Given the description of an element on the screen output the (x, y) to click on. 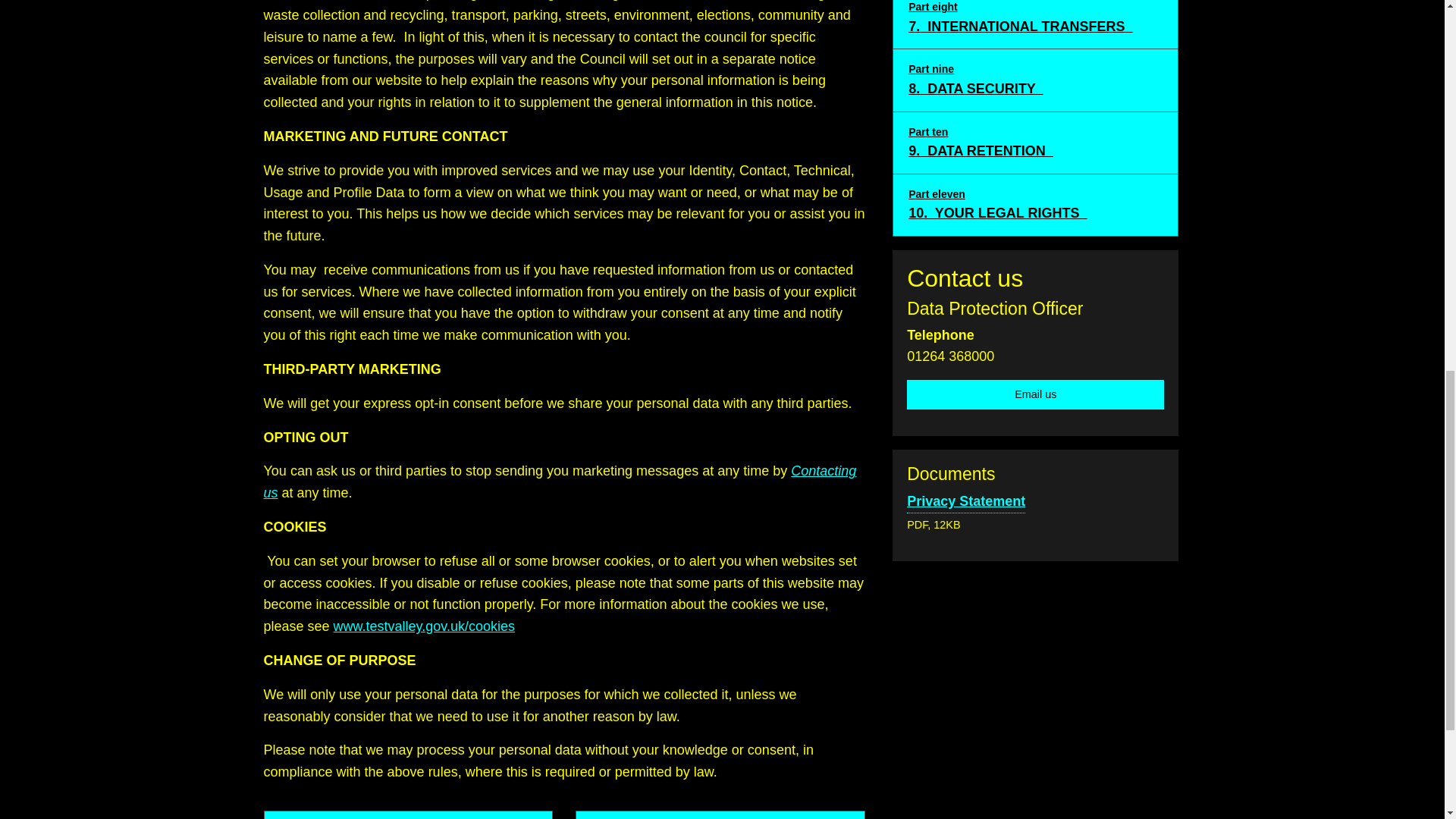
Next part (720, 814)
Opens a .pdf (407, 814)
Send an email (966, 501)
Previous part (1035, 394)
Contacting us (407, 814)
